Given the description of an element on the screen output the (x, y) to click on. 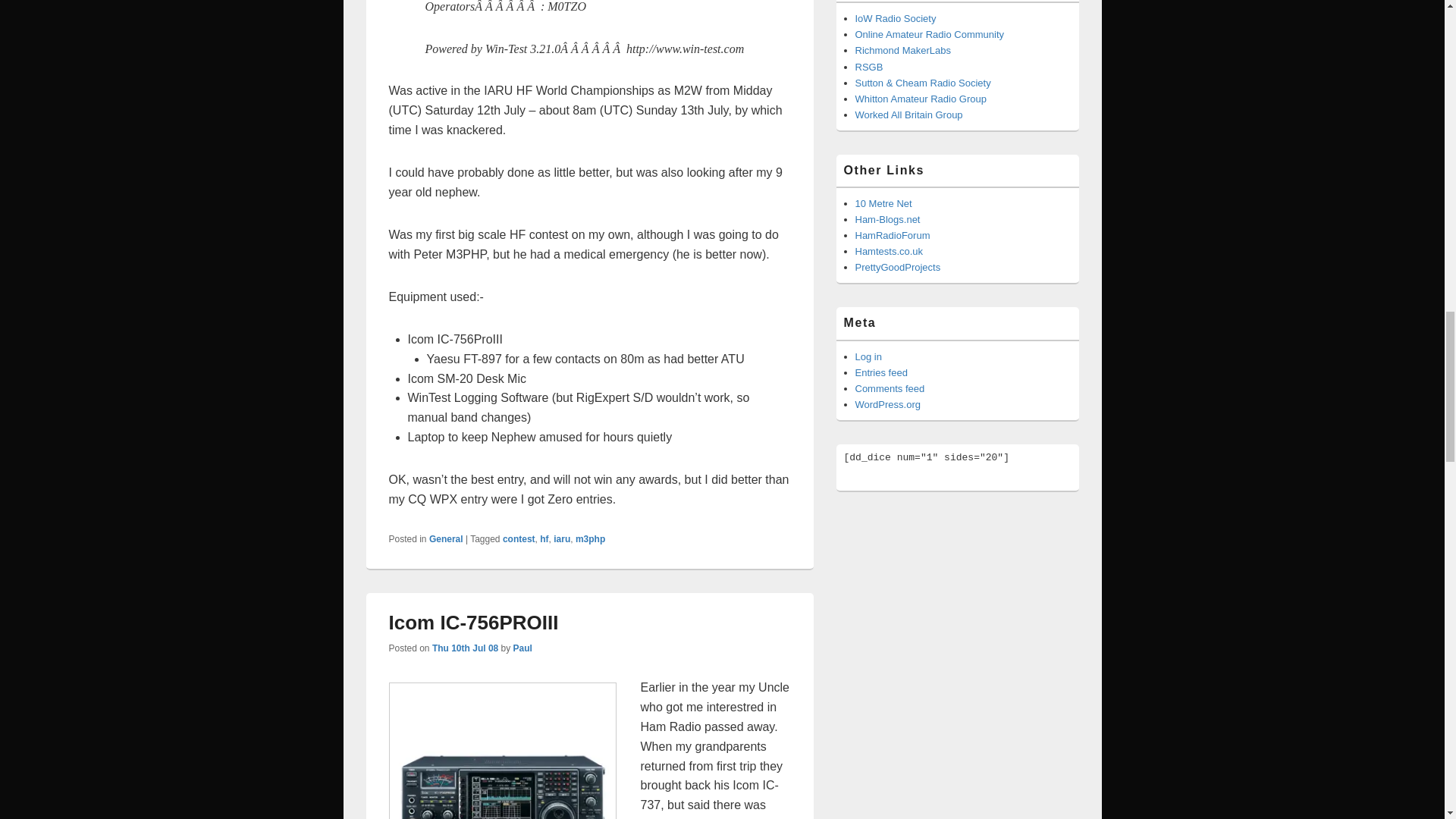
View all posts by Paul (522, 647)
Icom IC-756PROIII (501, 750)
Permalink to Icom IC-756PROIII (472, 621)
